Given the description of an element on the screen output the (x, y) to click on. 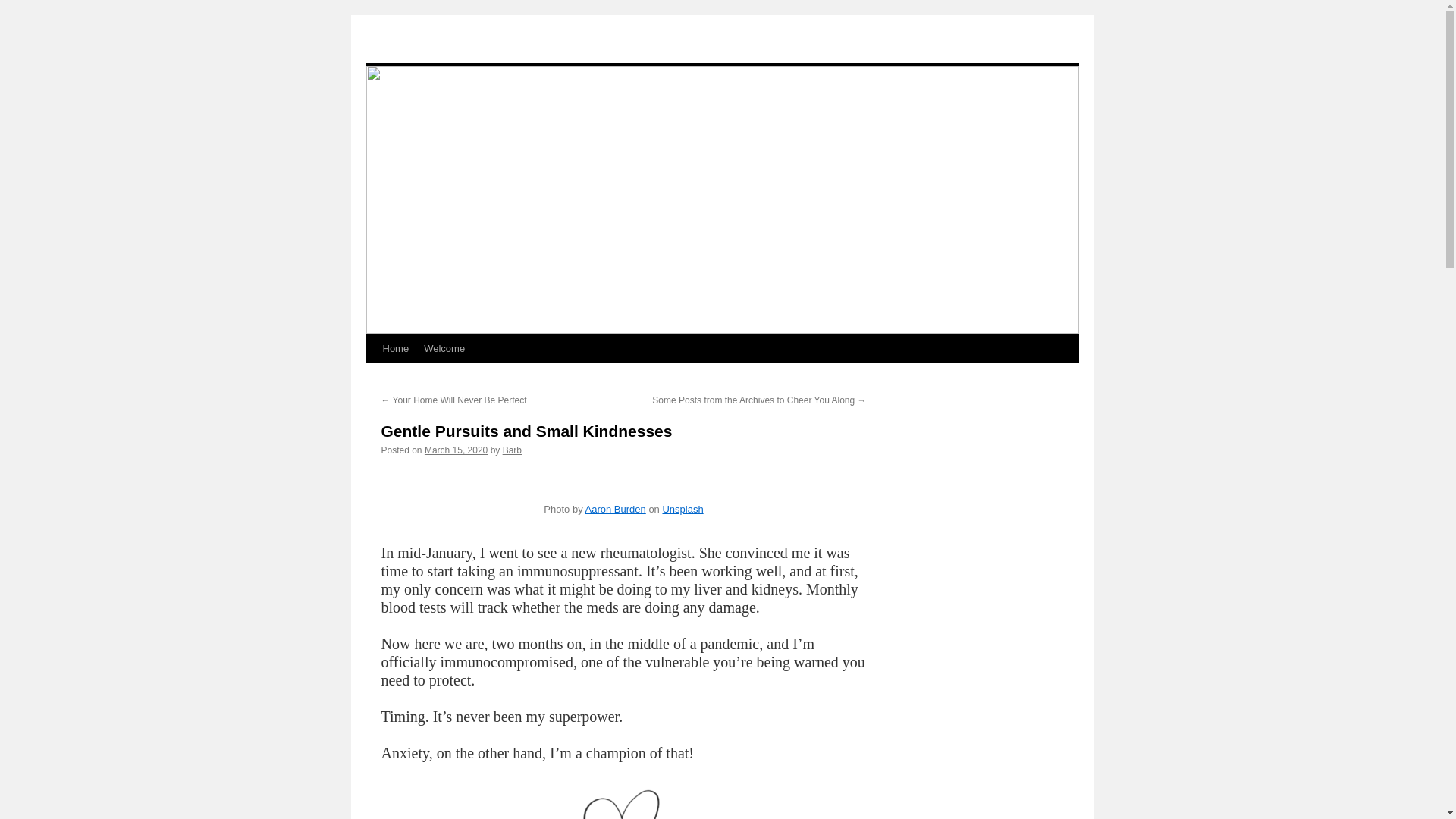
Welcome (443, 348)
Home (395, 348)
Skip to content (372, 376)
Unsplash (682, 509)
View all posts by Barb (511, 450)
8:00 am (456, 450)
March 15, 2020 (456, 450)
Aaron Burden (615, 509)
Barb (511, 450)
Skip to content (372, 376)
